Given the description of an element on the screen output the (x, y) to click on. 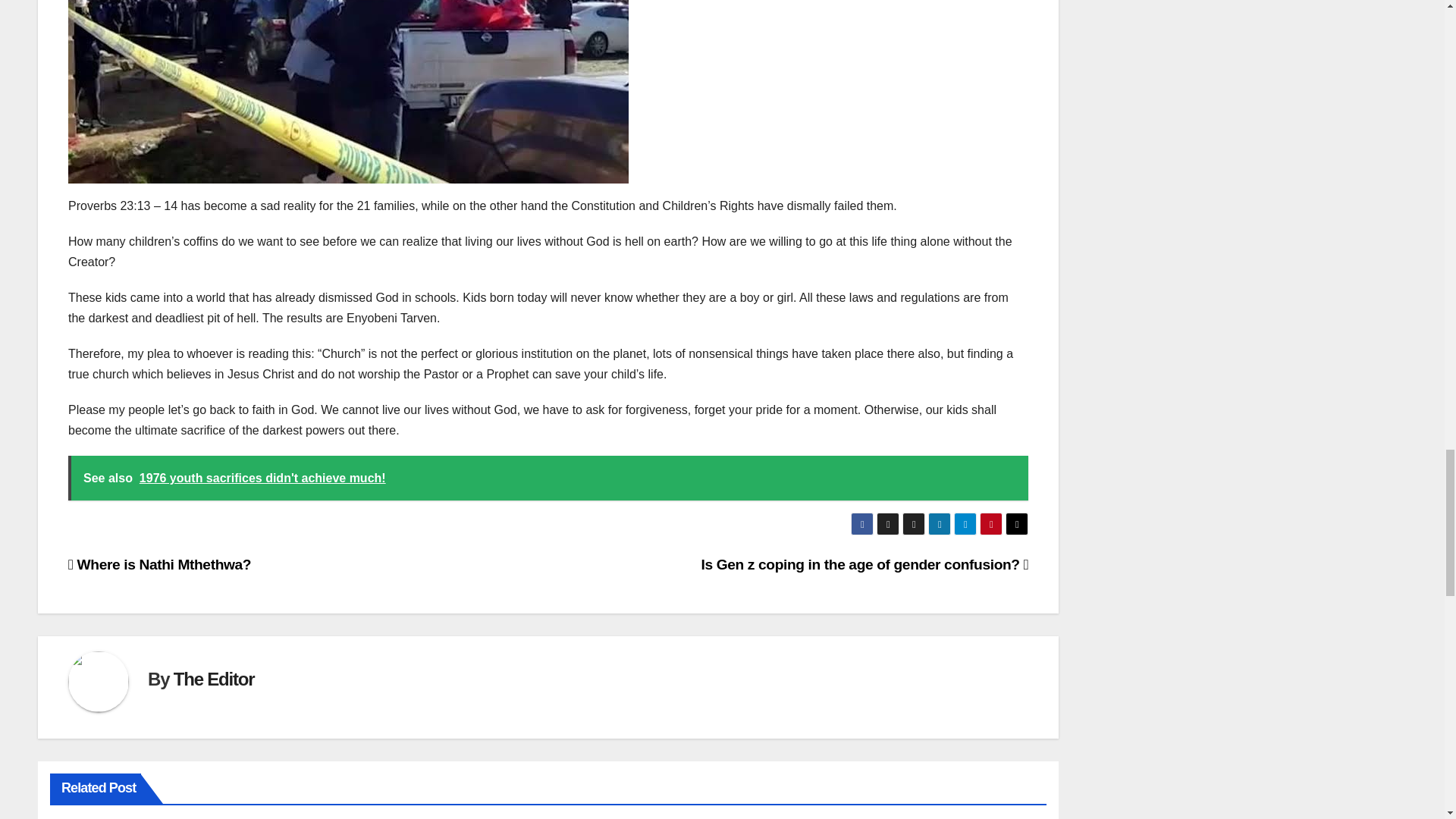
The Editor (213, 679)
Is Gen z coping in the age of gender confusion? (865, 564)
Where is Nathi Mthethwa? (159, 564)
See also  1976 youth sacrifices didn't achieve much! (547, 477)
